Given the description of an element on the screen output the (x, y) to click on. 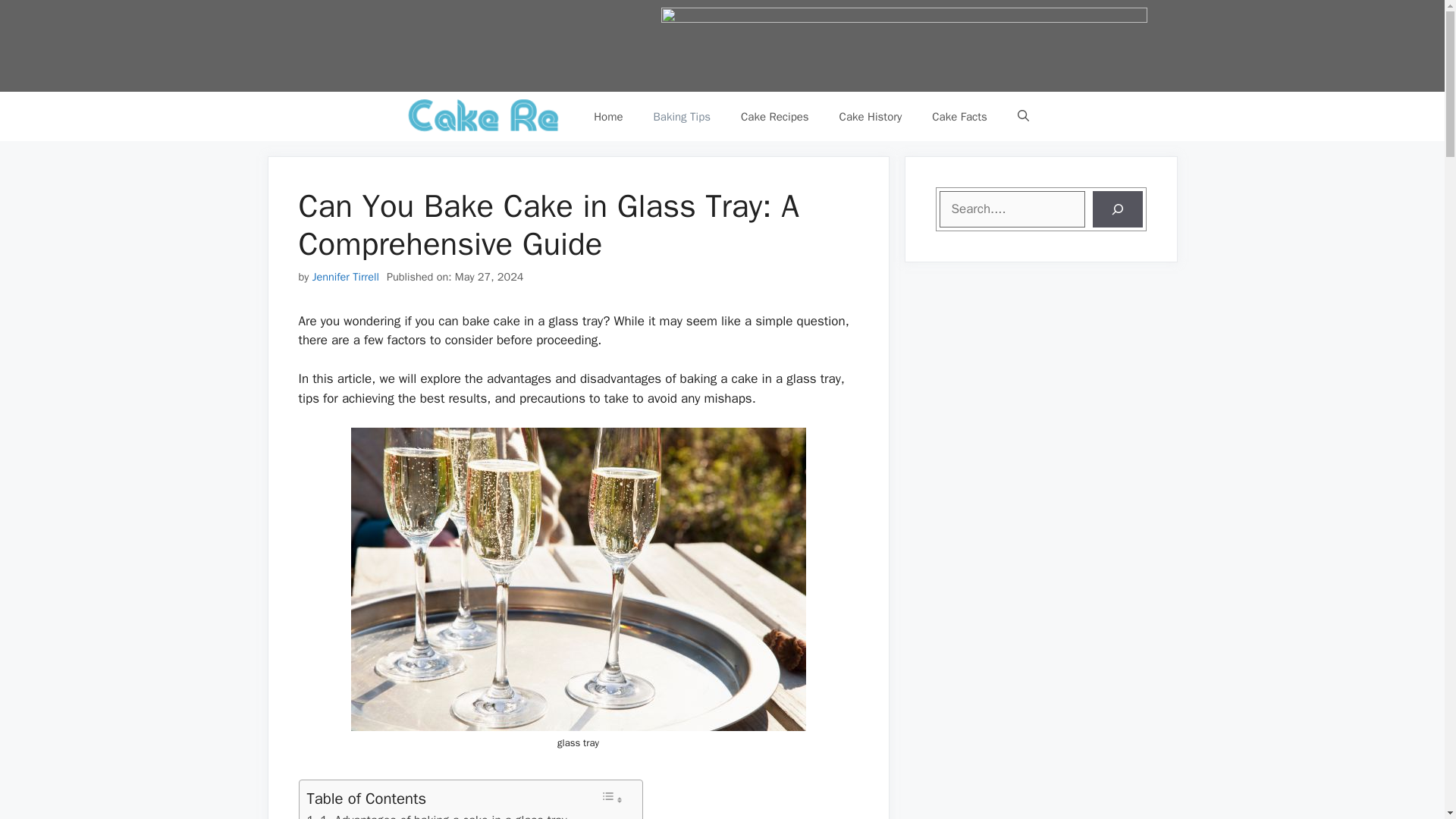
View all posts by Jennifer Tirrell (345, 276)
Home (607, 116)
1. Advantages of baking a cake in a glass tray (435, 814)
Baking Tips (682, 116)
1. Advantages of baking a cake in a glass tray (435, 814)
CakeRe (485, 115)
Cake Facts (960, 116)
Cake History (870, 116)
Jennifer Tirrell (345, 276)
Cake Recipes (774, 116)
